Given the description of an element on the screen output the (x, y) to click on. 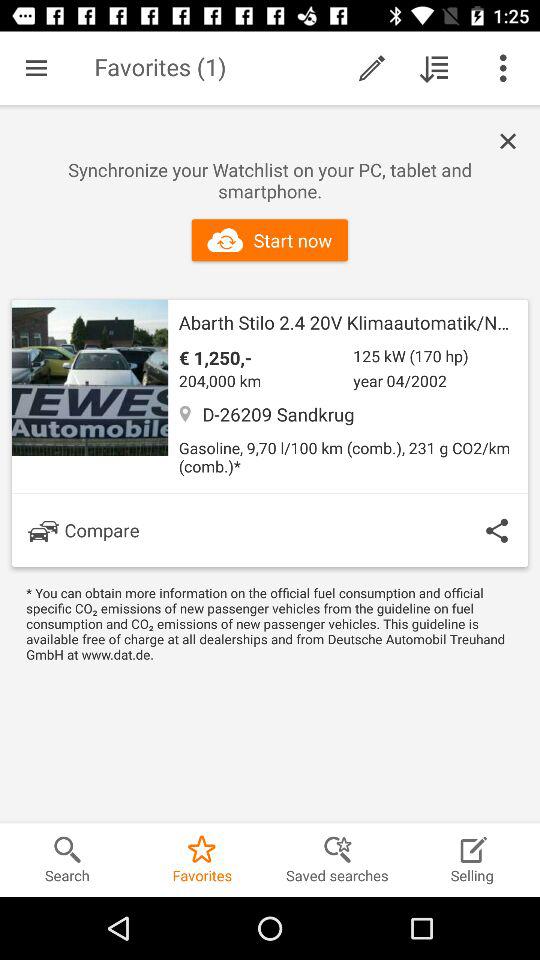
close advertisement (513, 141)
